Given the description of an element on the screen output the (x, y) to click on. 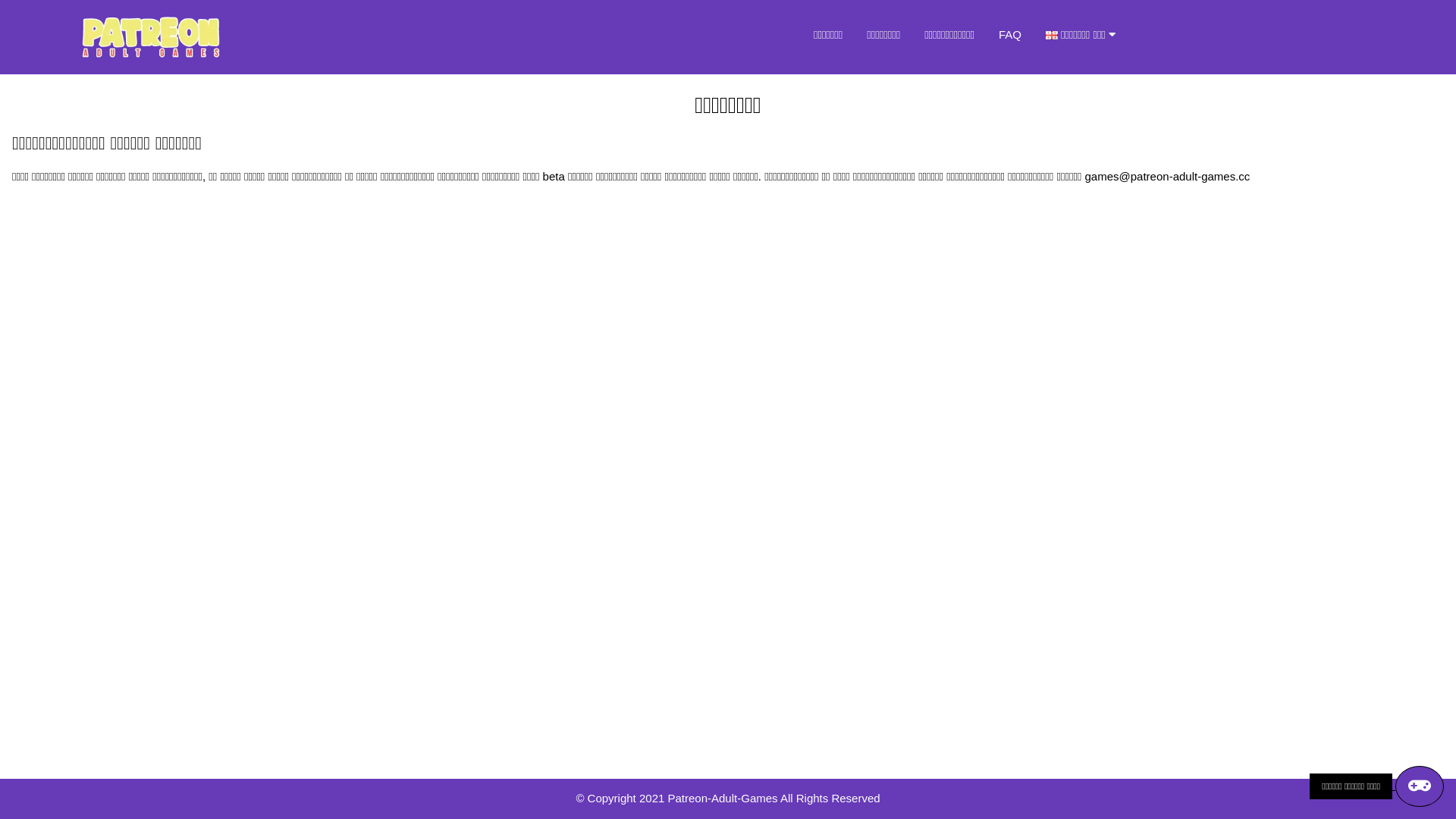
FAQ Element type: text (1009, 35)
